Given the description of an element on the screen output the (x, y) to click on. 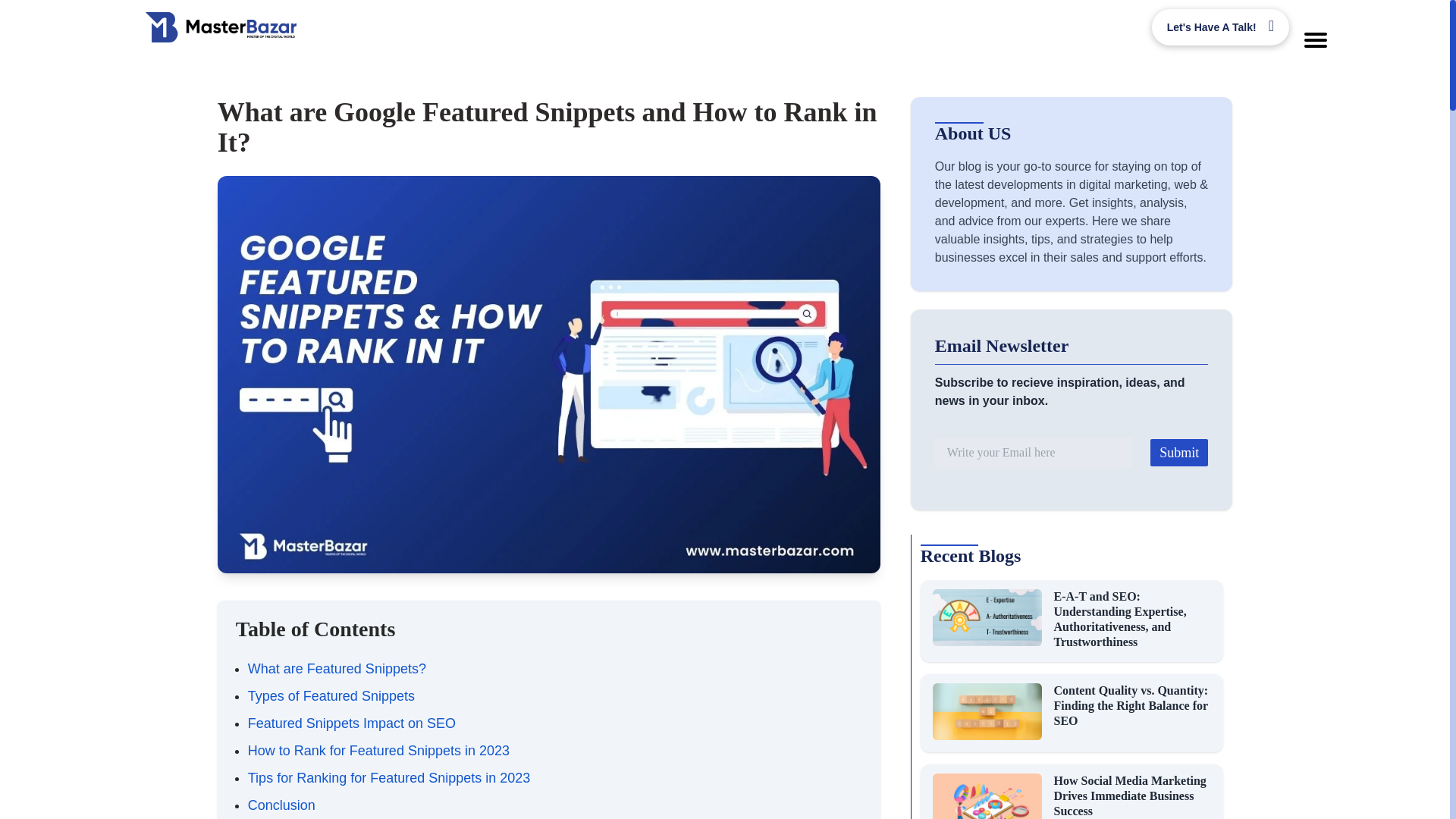
Submit (1179, 452)
Let's Have A Talk! (1219, 27)
Conclusion (281, 805)
Types of Featured Snippets (330, 695)
What are Featured Snippets? (336, 668)
Featured Snippets Impact on SEO (351, 723)
How to Rank for Featured Snippets in 2023 (378, 750)
Tips for Ranking for Featured Snippets in 2023 (389, 777)
